Given the description of an element on the screen output the (x, y) to click on. 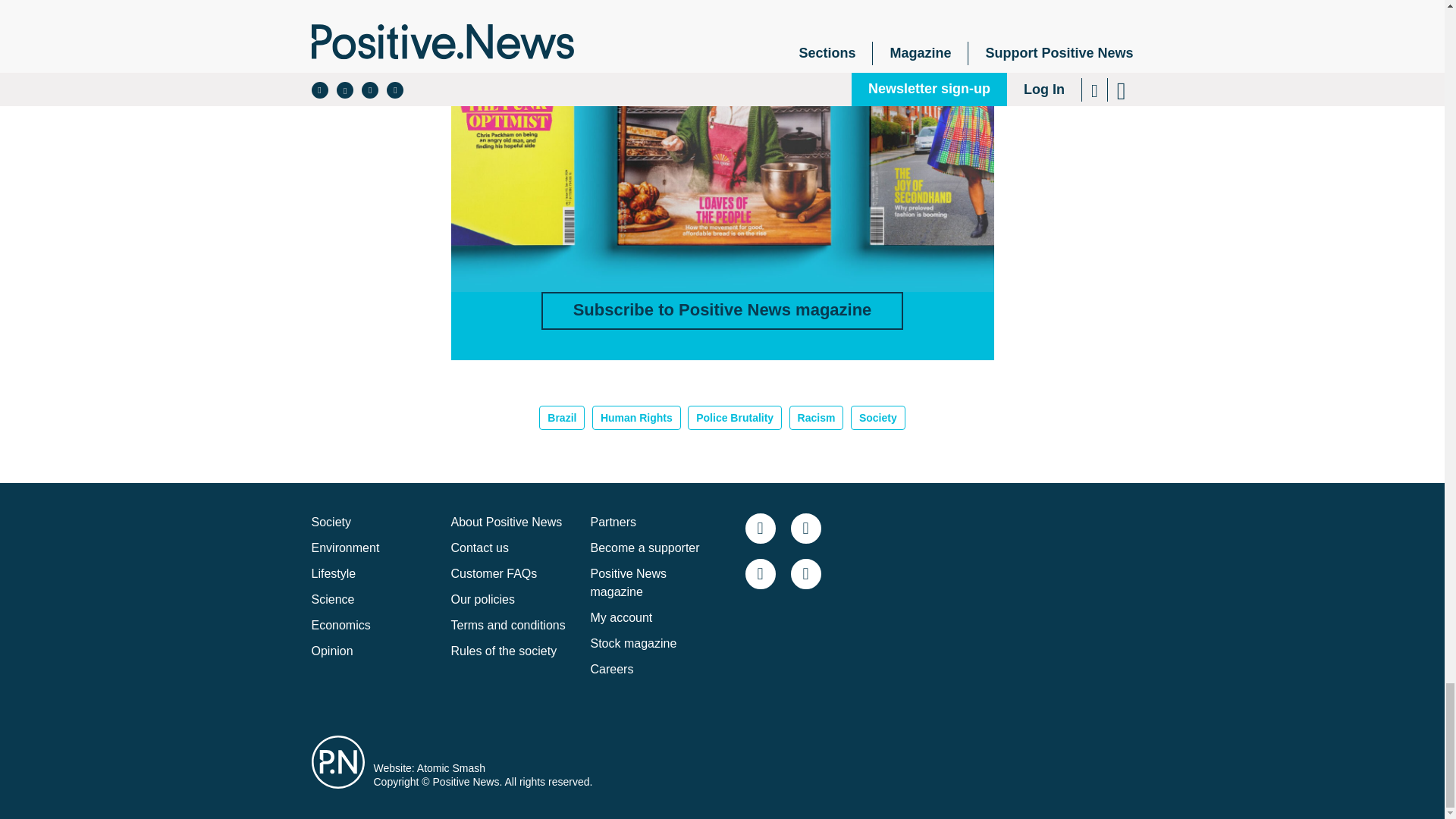
Racism (816, 417)
Society (330, 521)
Brazil (561, 417)
Subscribe to Positive News magazine (722, 310)
Police Brutality (734, 417)
Society (877, 417)
Human Rights (636, 417)
